Given the description of an element on the screen output the (x, y) to click on. 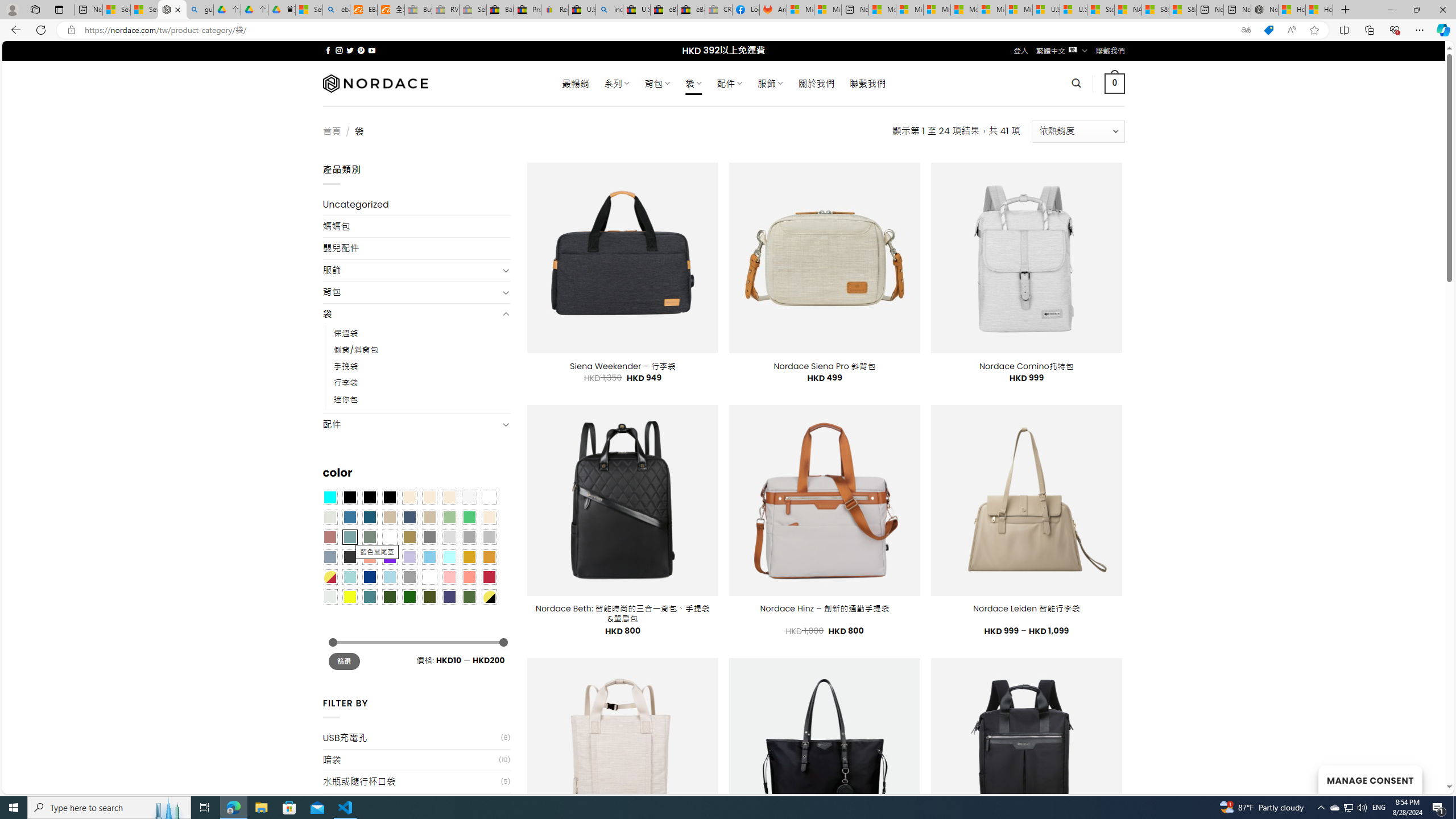
How to Use a Monitor With Your Closed Laptop (1319, 9)
ebay - Search (336, 9)
Refresh (40, 29)
Dull Nickle (329, 596)
